Given the description of an element on the screen output the (x, y) to click on. 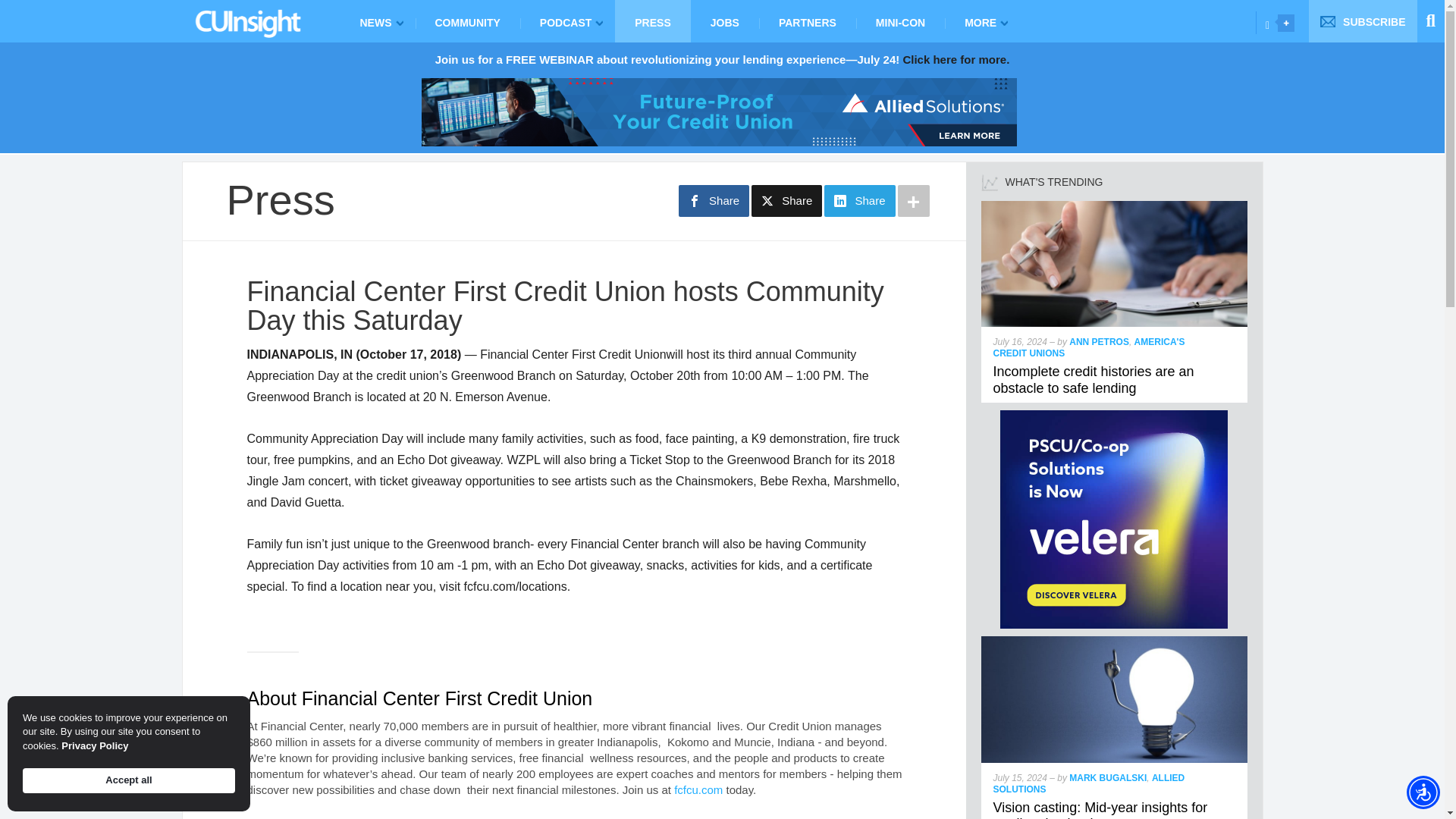
NEWS (376, 21)
JOBS (724, 21)
Vision casting: Mid-year insights for credit union leaders (1100, 809)
Share (713, 201)
Incomplete credit histories are an obstacle to safe lending (1114, 206)
PARTNERS (807, 21)
MORE (982, 21)
Press (279, 199)
PODCAST (566, 21)
MINI-CON (900, 21)
Opener (1286, 22)
Accessibility Menu (1422, 792)
COMMUNITY (466, 21)
PRESS (652, 21)
SUBSCRIBE (1362, 21)
